Given the description of an element on the screen output the (x, y) to click on. 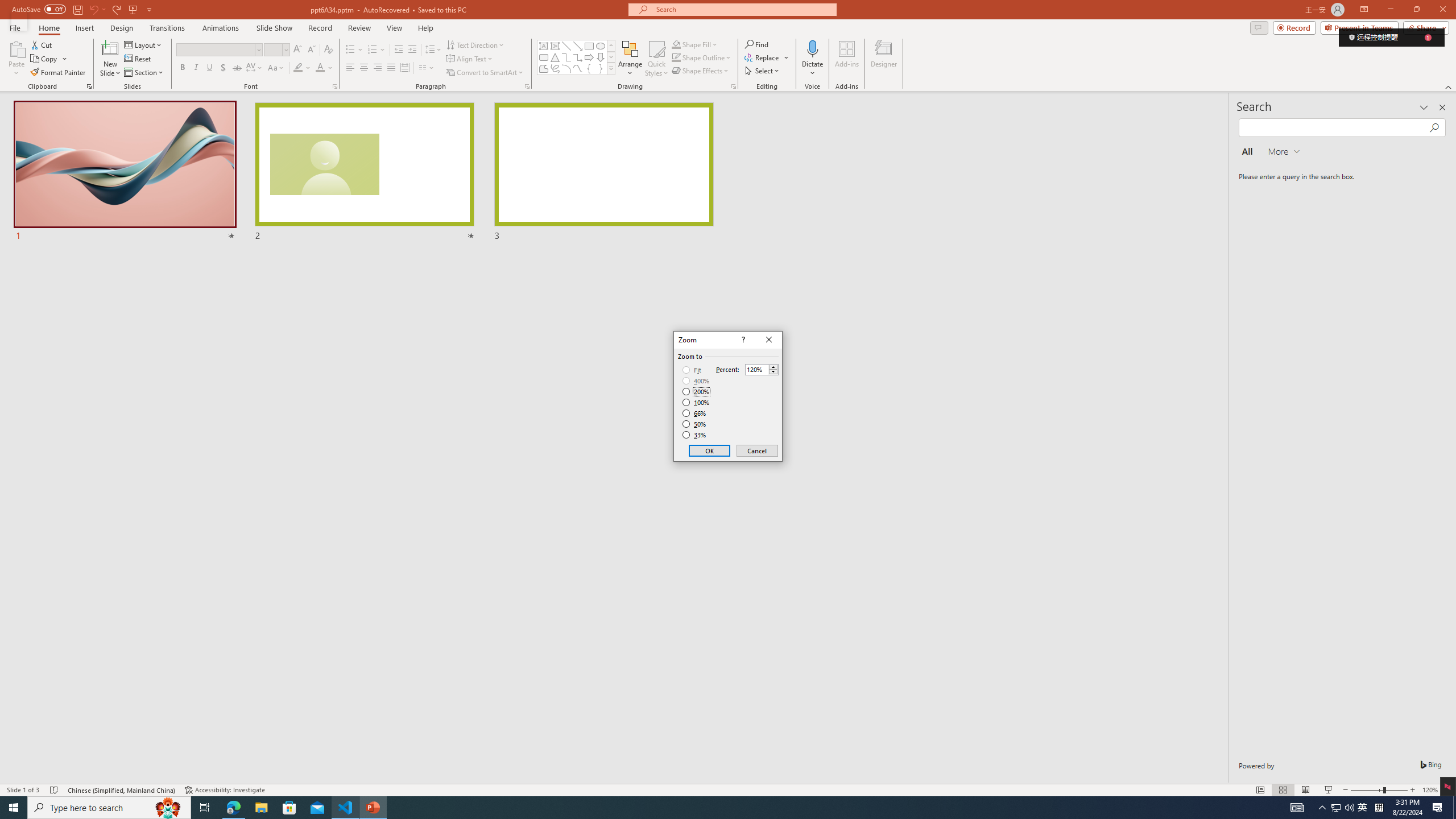
Quick Styles (656, 58)
Connector: Elbow (566, 57)
Font Color (324, 67)
Arc (566, 68)
Cancel (756, 450)
